Given the description of an element on the screen output the (x, y) to click on. 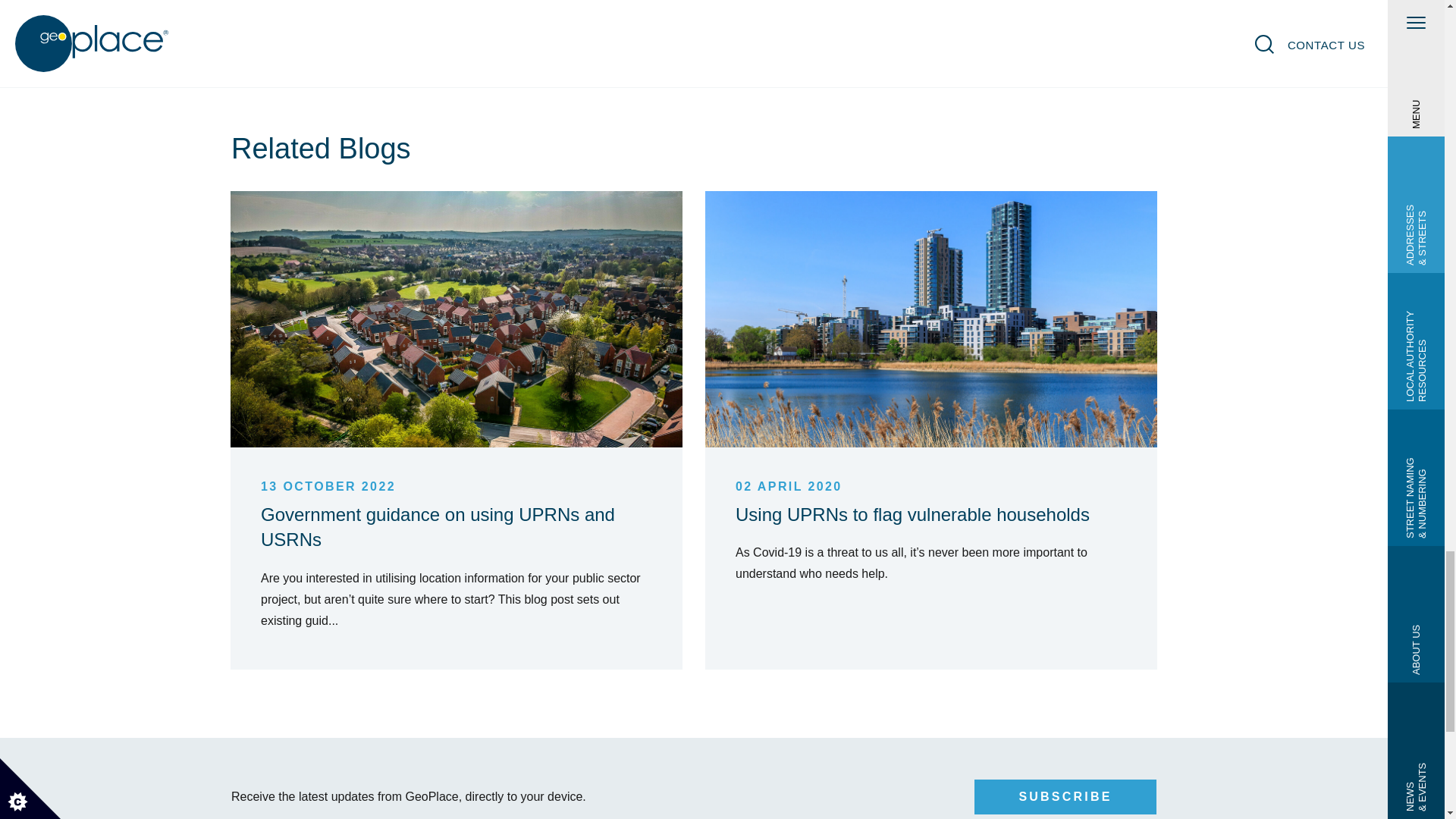
Related Blogs (694, 160)
